Given the description of an element on the screen output the (x, y) to click on. 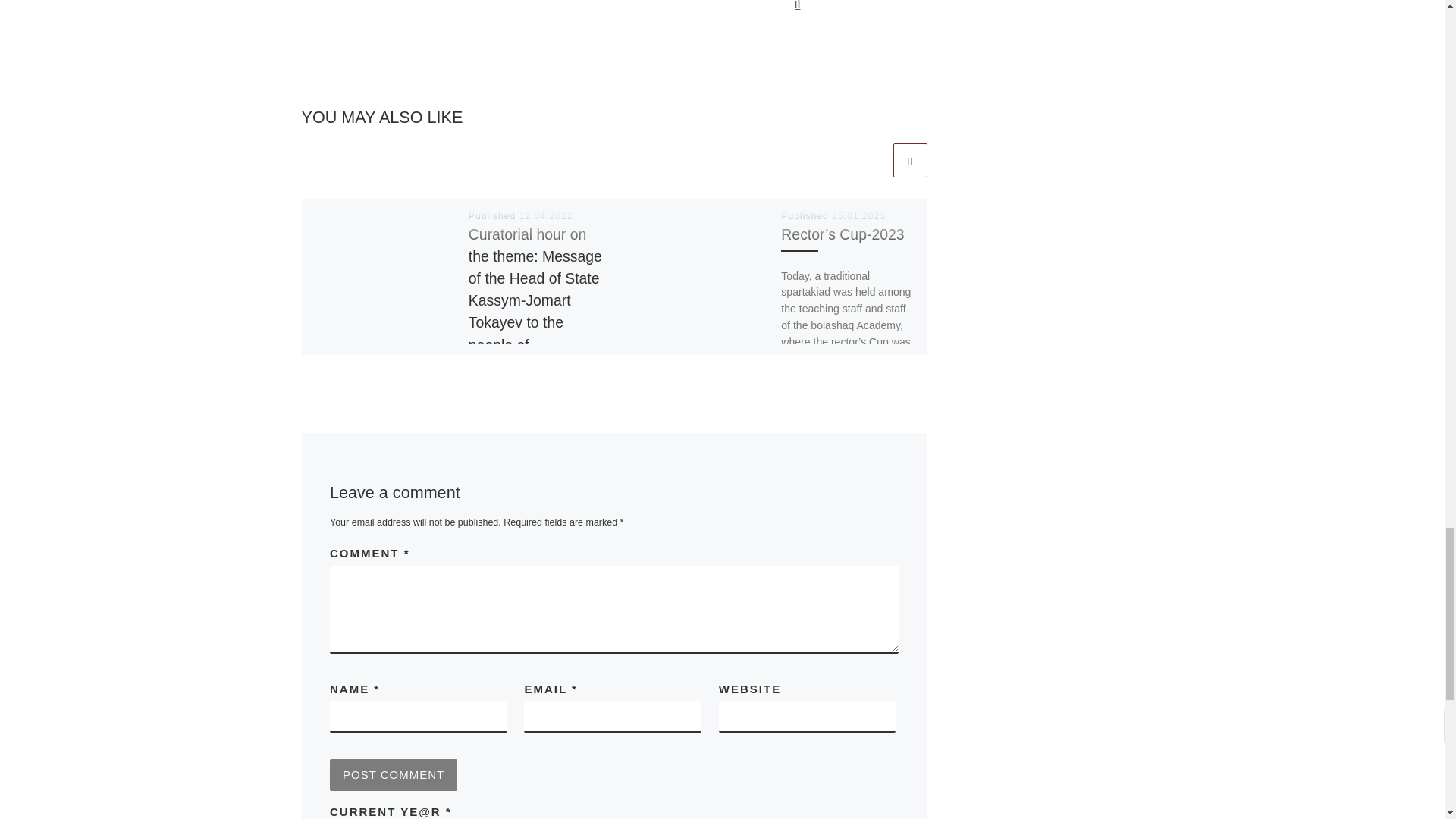
Previous related articles (872, 160)
Follow by Email (809, 5)
Post Comment (393, 775)
